Given the description of an element on the screen output the (x, y) to click on. 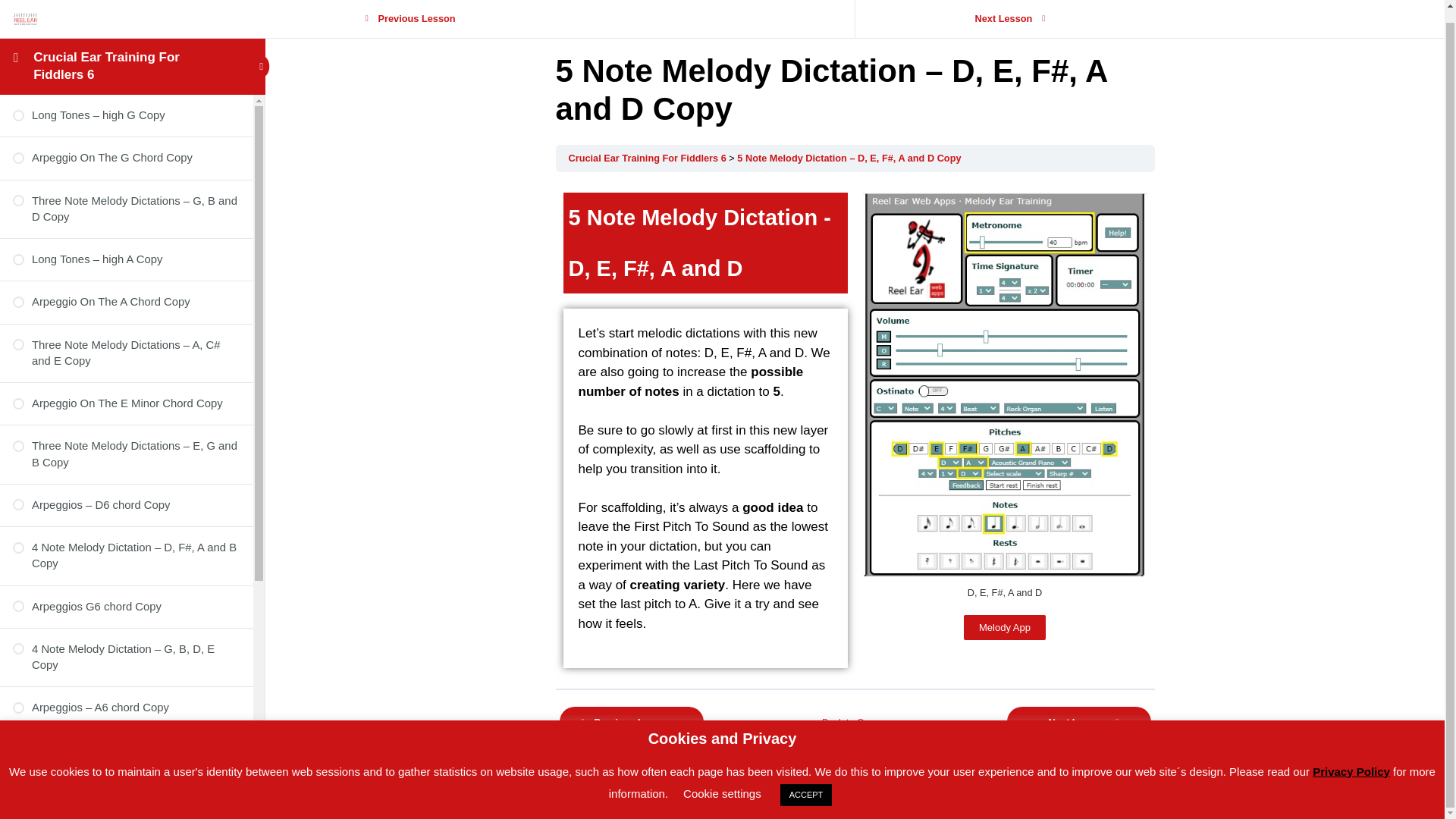
Crucial Ear Training For Fiddlers 6 (106, 53)
Arpeggio On The A Chord Copy (126, 289)
Back to Course (854, 721)
Previous Lesson (631, 721)
Crucial Ear Training For Fiddlers 6 (647, 157)
Arpeggio On The G Chord Copy (126, 145)
Next Lesson (1005, 11)
Cookie settings (721, 780)
Arpeggios G6 chord Copy (126, 594)
Arpeggio On The E Minor Chord Copy (126, 391)
